Given the description of an element on the screen output the (x, y) to click on. 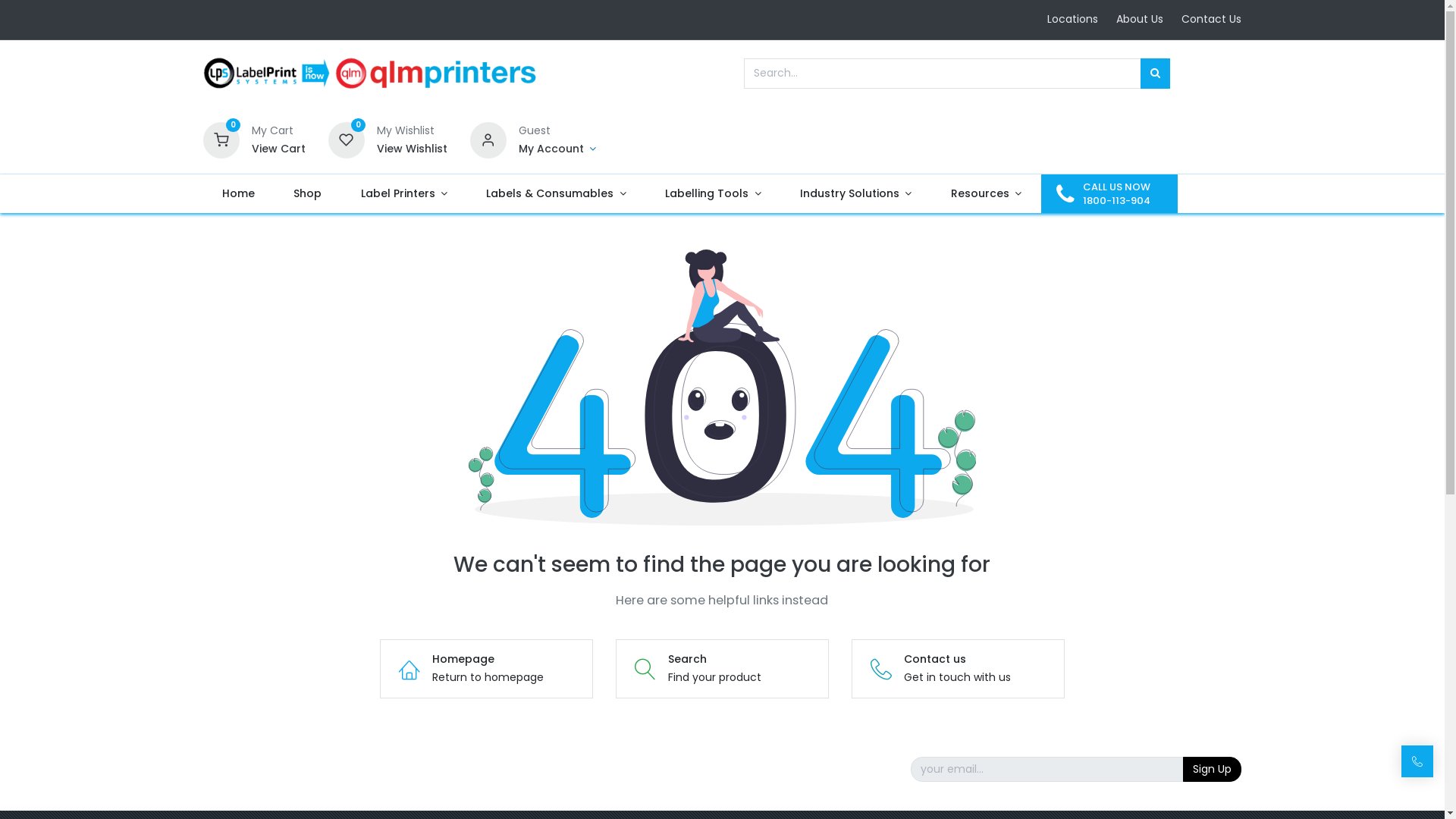
Industry Solutions Element type: text (855, 193)
Search Element type: hover (1155, 73)
View Cart Element type: text (278, 148)
Contact us
Get in touch with us Element type: text (957, 668)
Home Element type: text (238, 193)
Search
Find your product Element type: text (721, 668)
lps Element type: hover (370, 73)
Shop Element type: text (307, 193)
Homepage
Return to homepage Element type: text (486, 668)
Labels & Consumables Element type: text (556, 193)
CALL US NOW 1800-113-904 Element type: text (1109, 193)
About Us Element type: text (1139, 18)
Labelling Tools Element type: text (713, 193)
View Wishlist Element type: text (411, 148)
Resources Element type: text (986, 193)
0 Element type: text (346, 138)
 Locations  Element type: text (1072, 18)
Sign Up Element type: text (1212, 769)
0 Element type: text (221, 138)
My Account Element type: text (557, 148)
Label Printers Element type: text (404, 193)
Contact Us Element type: text (1211, 18)
